Given the description of an element on the screen output the (x, y) to click on. 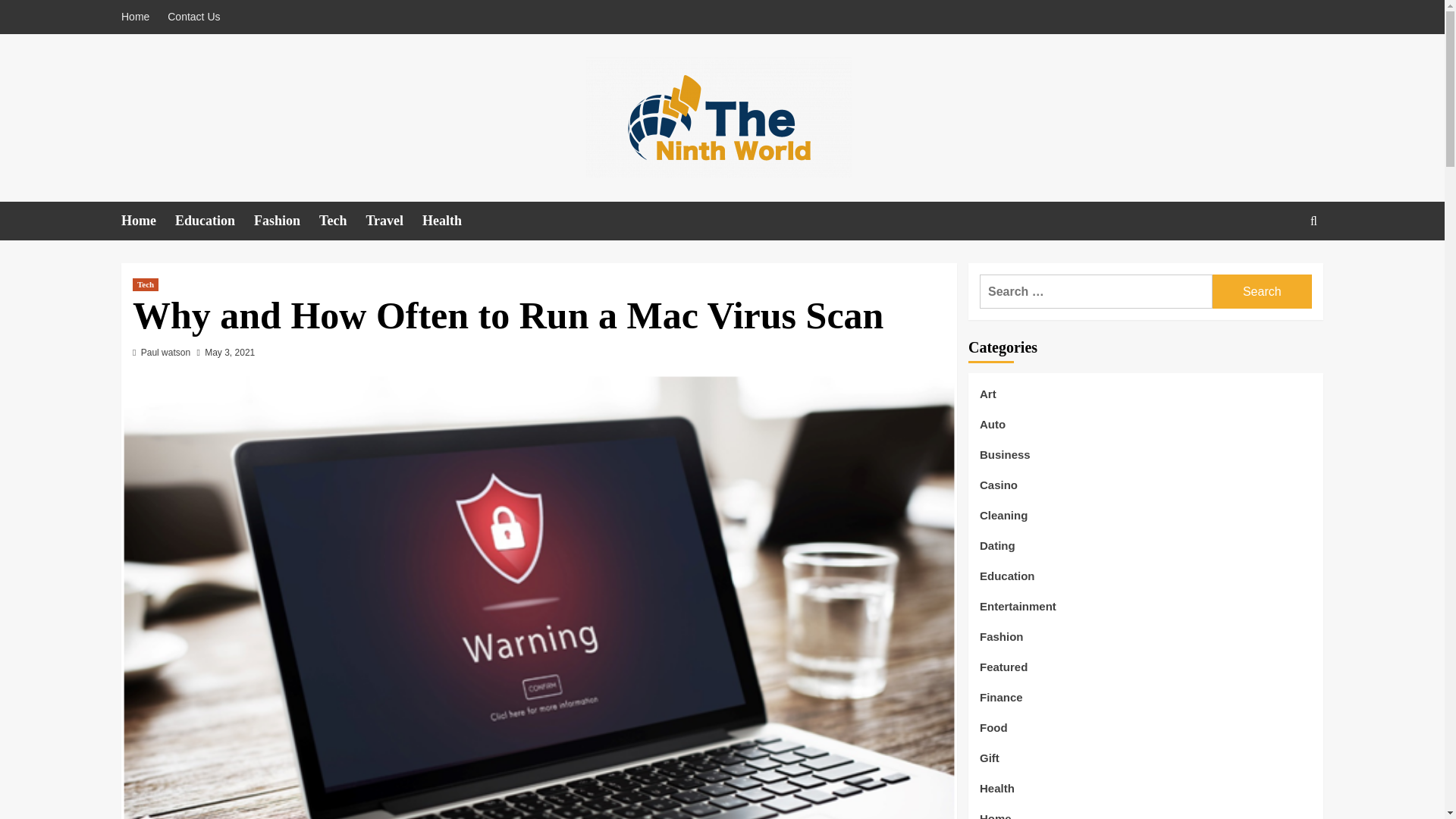
Home (138, 17)
Home (147, 220)
Contact Us (193, 17)
Fashion (285, 220)
Search (1261, 291)
Education (213, 220)
Tech (341, 220)
Travel (393, 220)
Tech (145, 284)
Search (1278, 267)
Health (451, 220)
Paul watson (165, 352)
Search (1261, 291)
May 3, 2021 (229, 352)
